Given the description of an element on the screen output the (x, y) to click on. 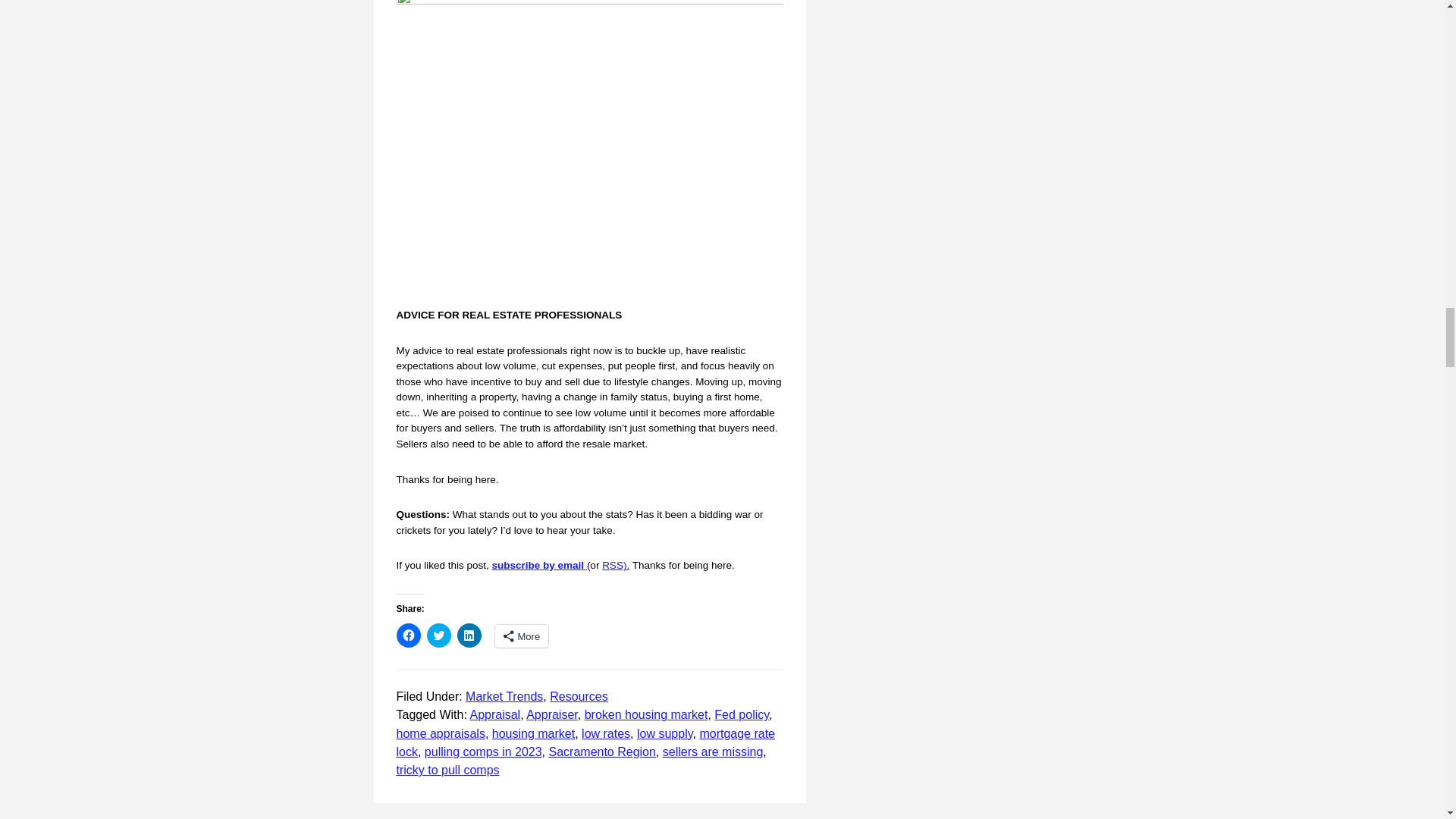
Click to share on Facebook (408, 635)
Market Trends (504, 696)
broken housing market (646, 714)
low supply (665, 733)
subscribe by email  (539, 564)
pulling comps in 2023 (483, 751)
Appraisal (493, 714)
home appraisals (440, 733)
low rates (605, 733)
housing market (533, 733)
Resources (578, 696)
Click to share on Twitter (437, 635)
Appraiser (551, 714)
Fed policy (741, 714)
mortgage rate lock (585, 742)
